Given the description of an element on the screen output the (x, y) to click on. 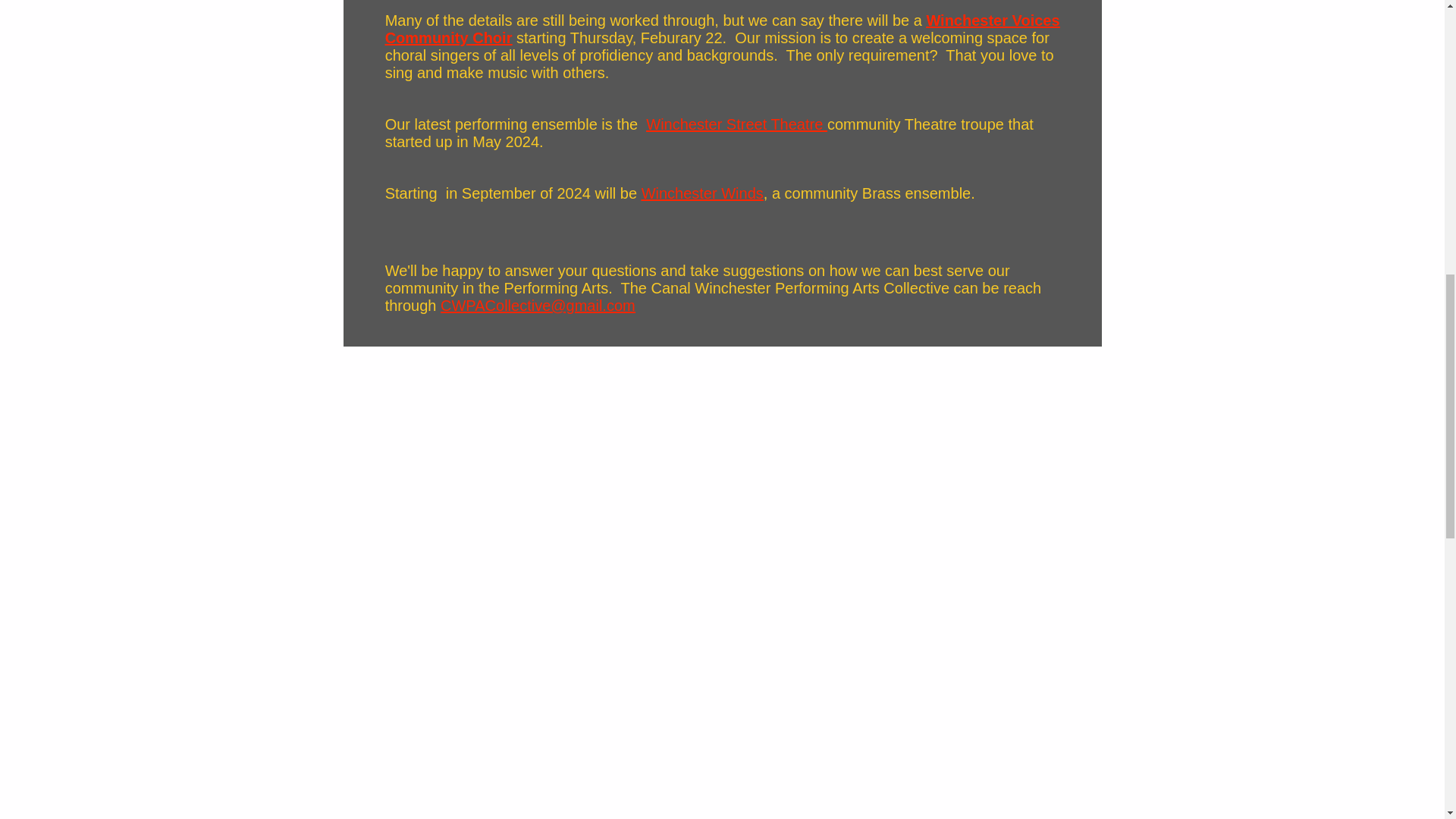
Winchester Street Theatre (736, 124)
Winchester Winds (702, 193)
Winchester Voices Community Choir (722, 28)
